Given the description of an element on the screen output the (x, y) to click on. 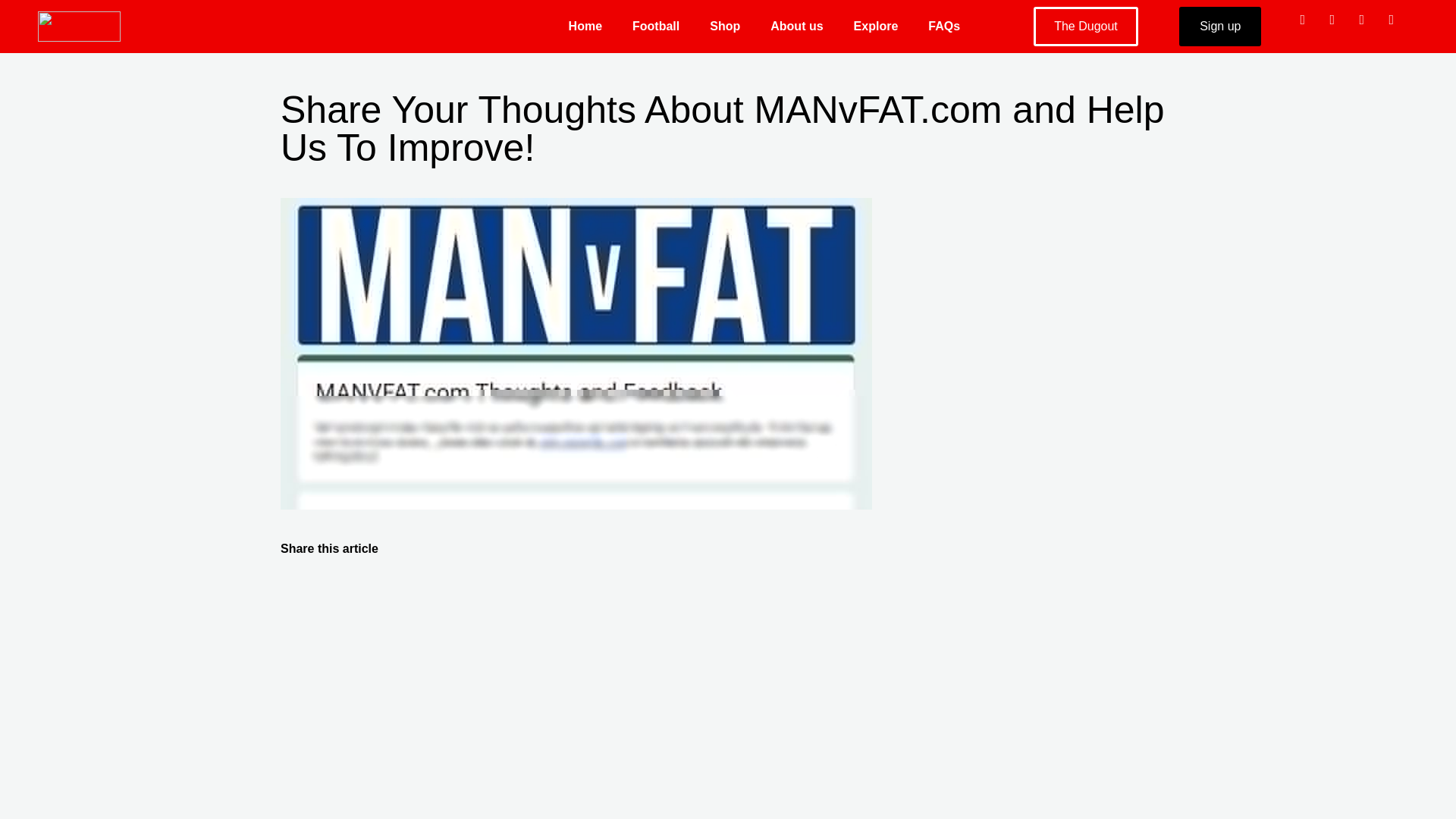
The Dugout (1085, 25)
Sign up (1219, 25)
Football (655, 26)
Explore (876, 26)
About us (796, 26)
Home (585, 26)
FAQs (943, 26)
Shop (724, 26)
